Given the description of an element on the screen output the (x, y) to click on. 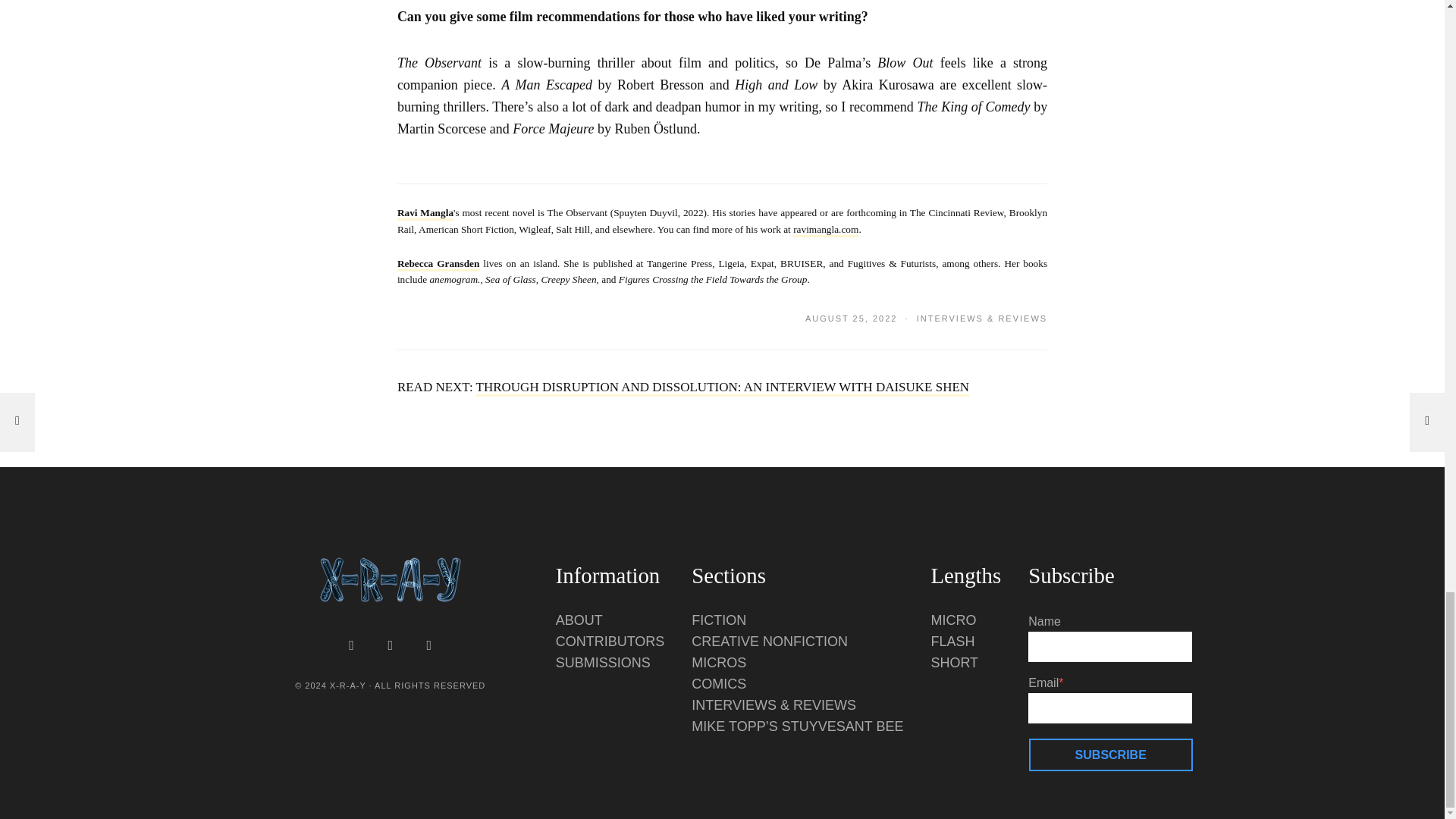
FLASH (952, 641)
ravimangla.com (826, 230)
Rebecca Gransden (438, 264)
Ravi Mangla (424, 213)
MICROS (718, 662)
SUBMISSIONS (603, 662)
FICTION (718, 620)
MICRO (952, 620)
